Given the description of an element on the screen output the (x, y) to click on. 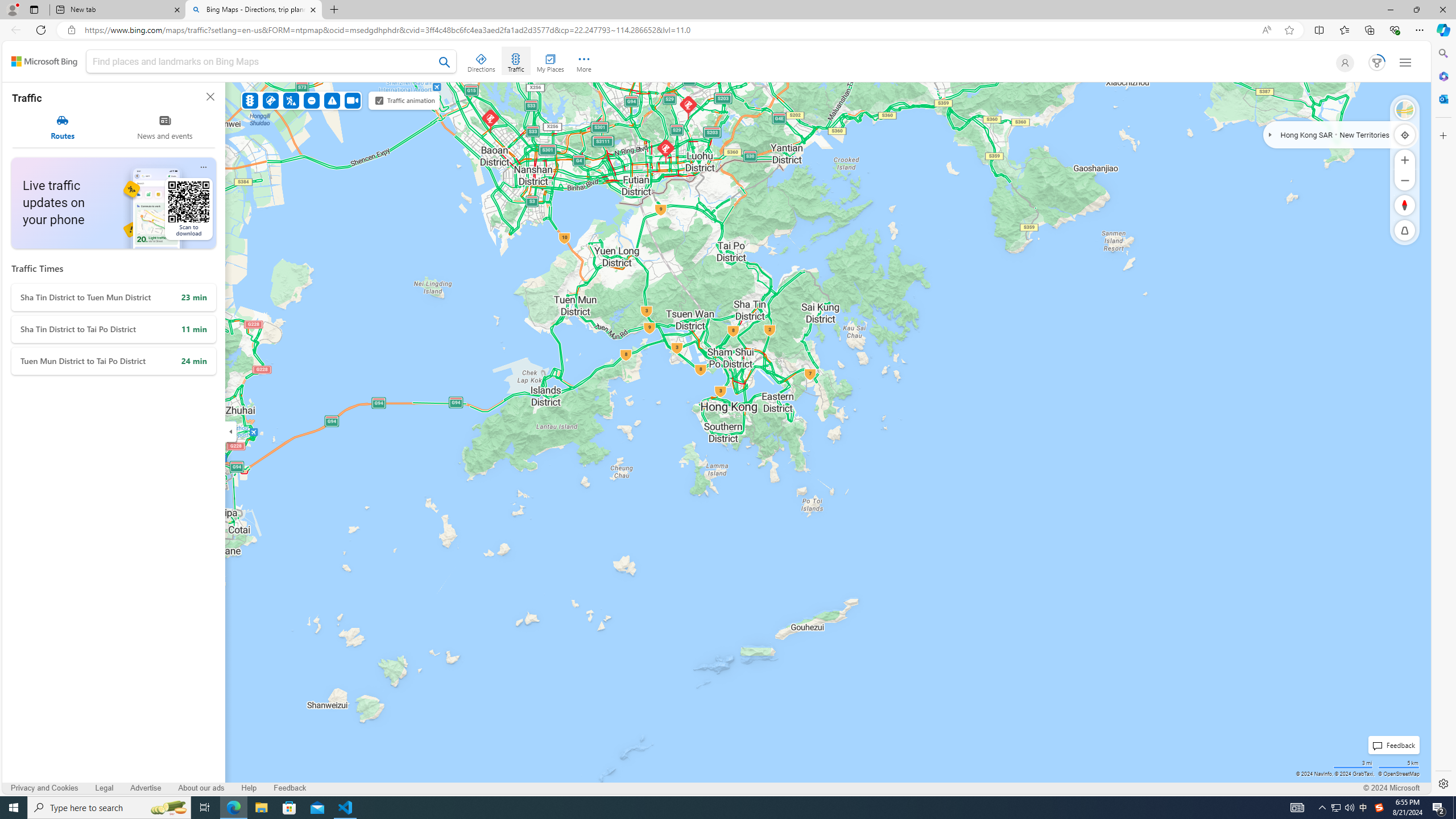
Zoom Out (1404, 180)
Privacy and Cookies (44, 787)
Bird's eye (1404, 109)
Reset to Default Rotation (1404, 204)
Road (1404, 109)
Routes (62, 127)
